Given the description of an element on the screen output the (x, y) to click on. 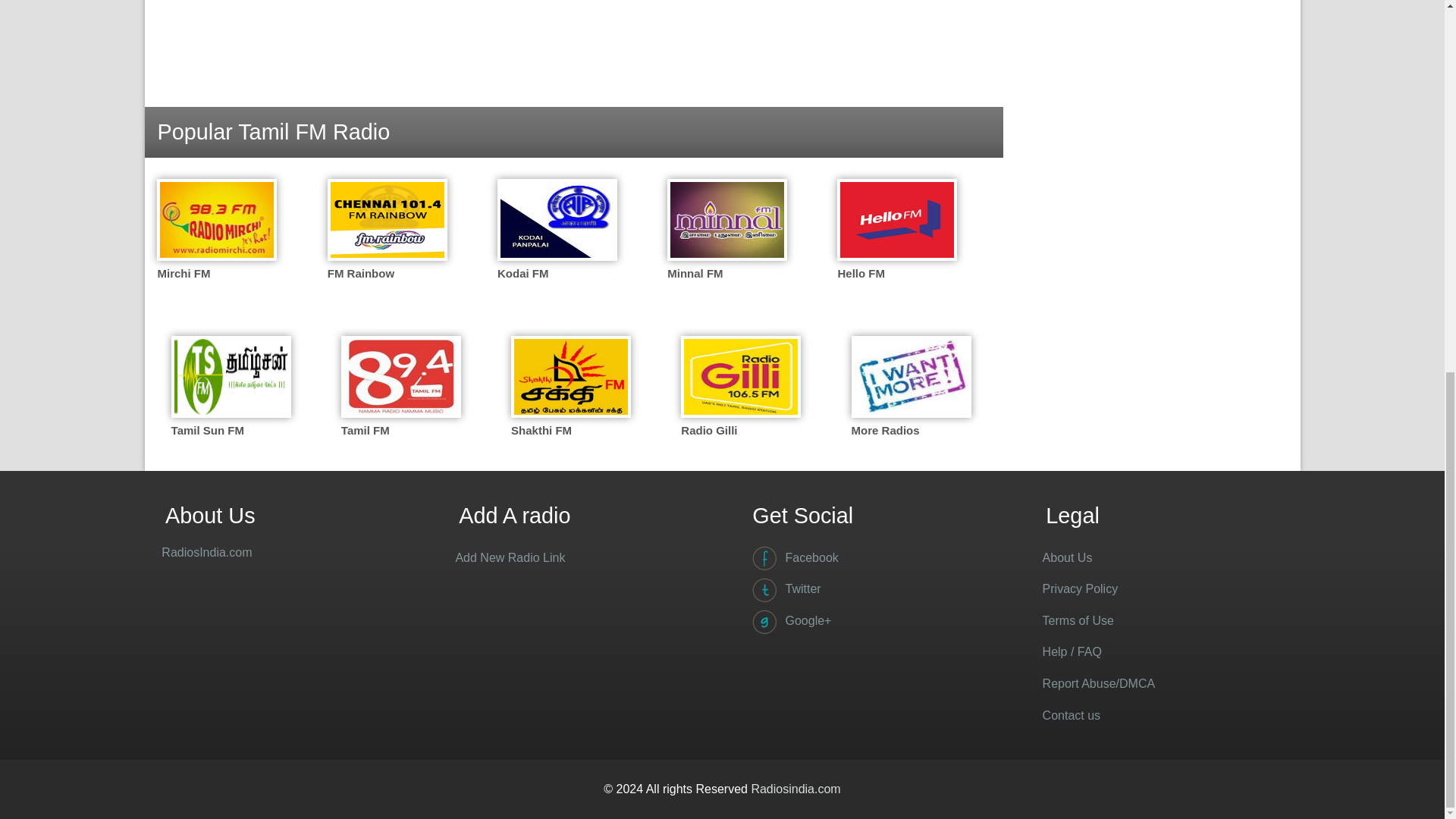
Minnal FM (731, 276)
Terms of Use (1162, 621)
Twitter (869, 589)
Facebook (869, 558)
Kodai FM (562, 276)
FM Rainbow (392, 276)
Privacy Policy (1162, 589)
Add New Radio Link (574, 558)
Tamil FM (405, 392)
Tamil Sun FM (236, 392)
